Given the description of an element on the screen output the (x, y) to click on. 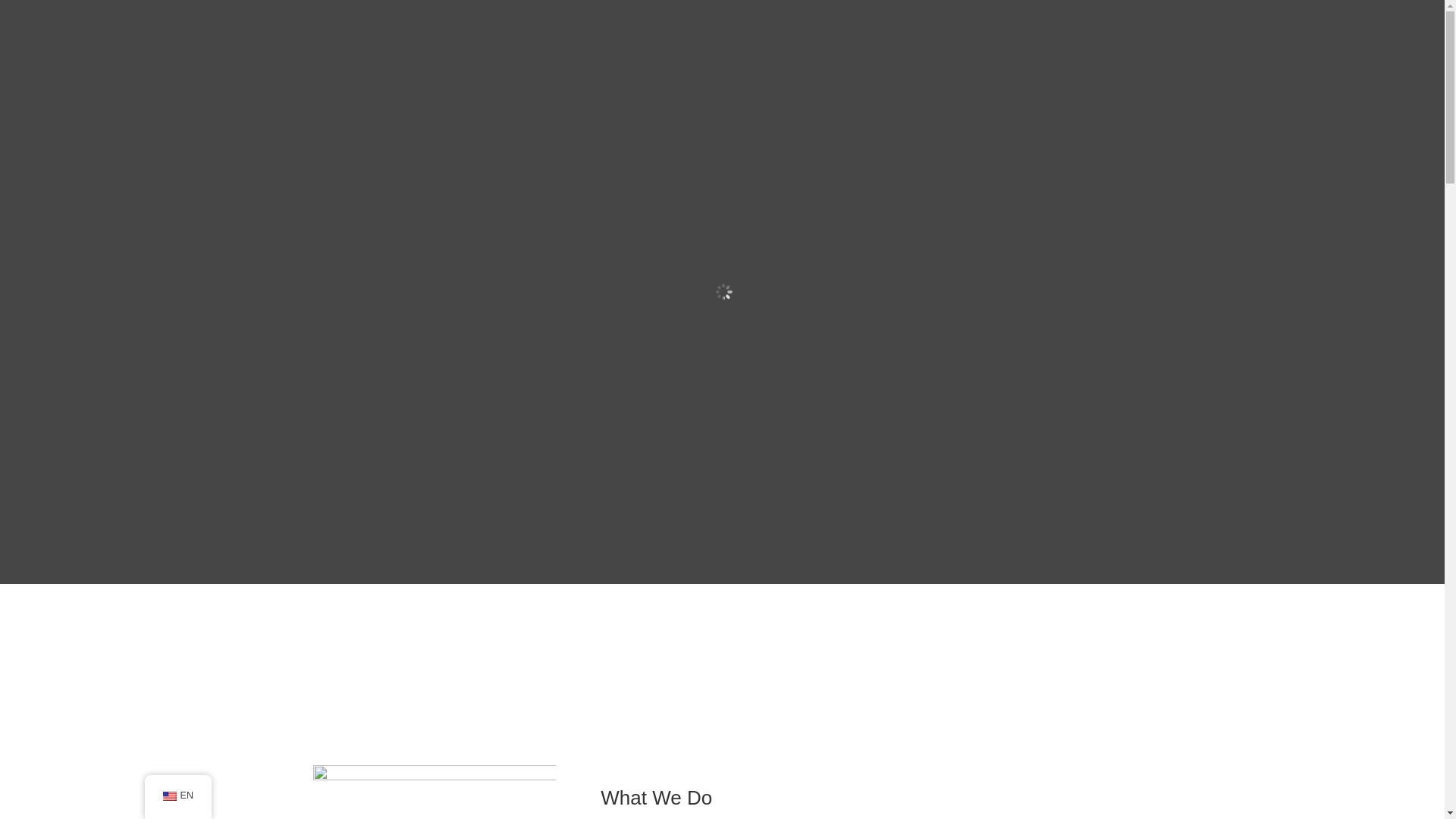
English (168, 795)
EN (177, 796)
